Given the description of an element on the screen output the (x, y) to click on. 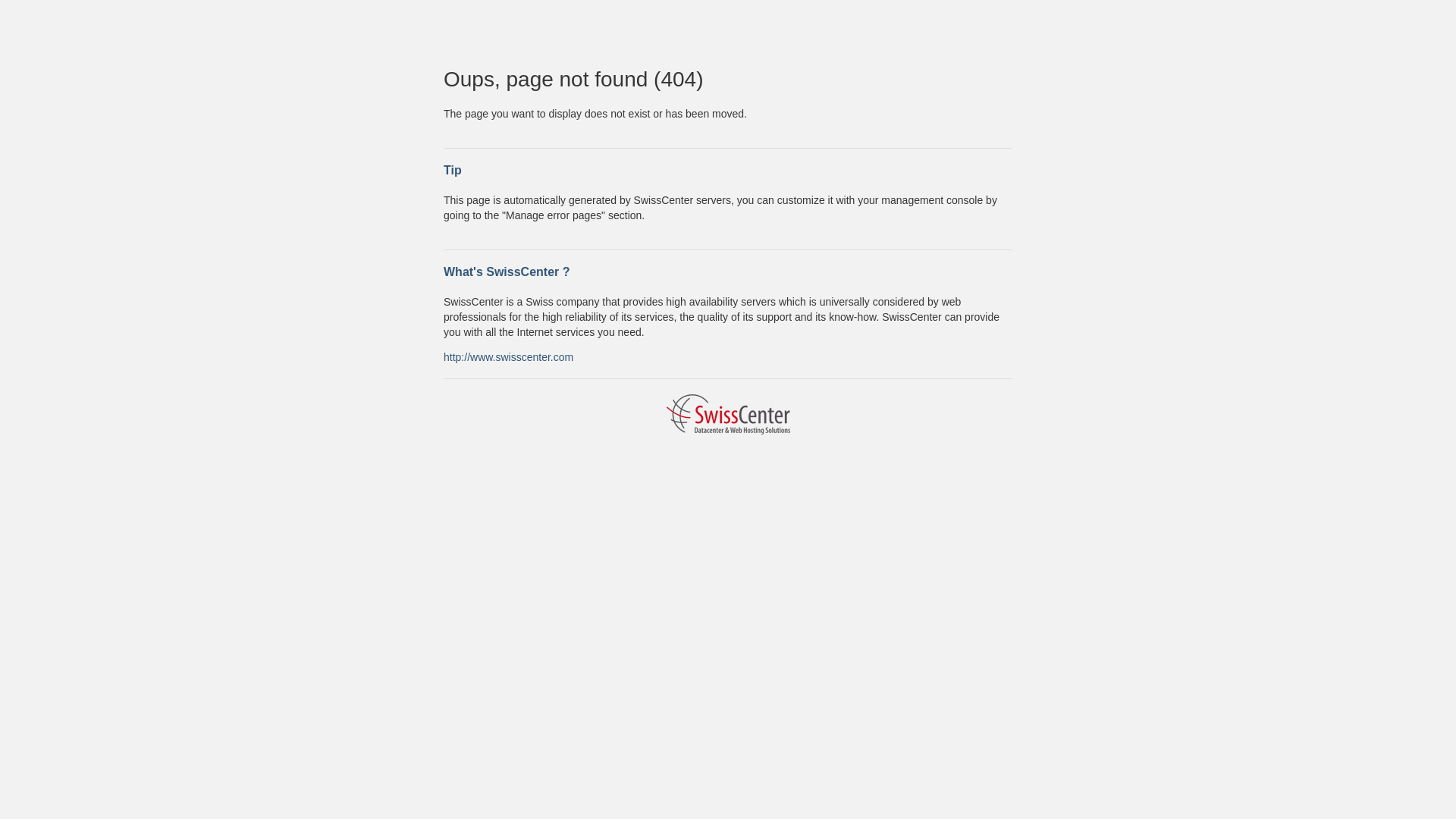
http://www.swisscenter.com Element type: text (508, 356)
